Given the description of an element on the screen output the (x, y) to click on. 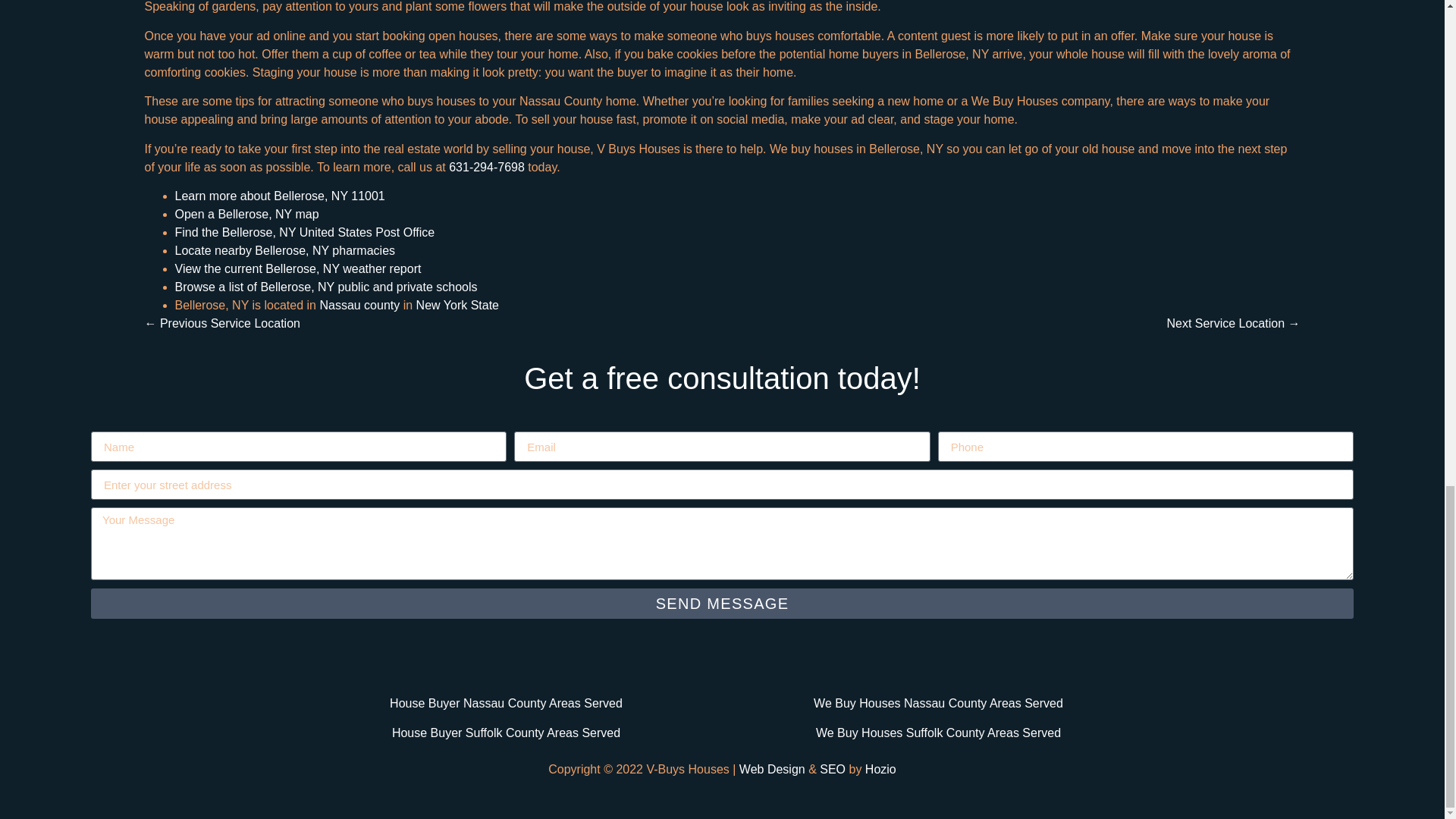
We Buy Houses Suffolk County Areas Served (938, 732)
Web Design (772, 768)
Learn more about Bellerose, NY 11001 (279, 195)
We Buy Houses Nassau County Areas Served (937, 703)
Nassau county (358, 305)
Open a Bellerose, NY map (246, 214)
Find the Bellerose, NY United States Post Office (303, 232)
Browse a list of Bellerose, NY public and private schools (325, 286)
House Buyer Suffolk County Areas Served (505, 732)
SEND MESSAGE (722, 603)
